Given the description of an element on the screen output the (x, y) to click on. 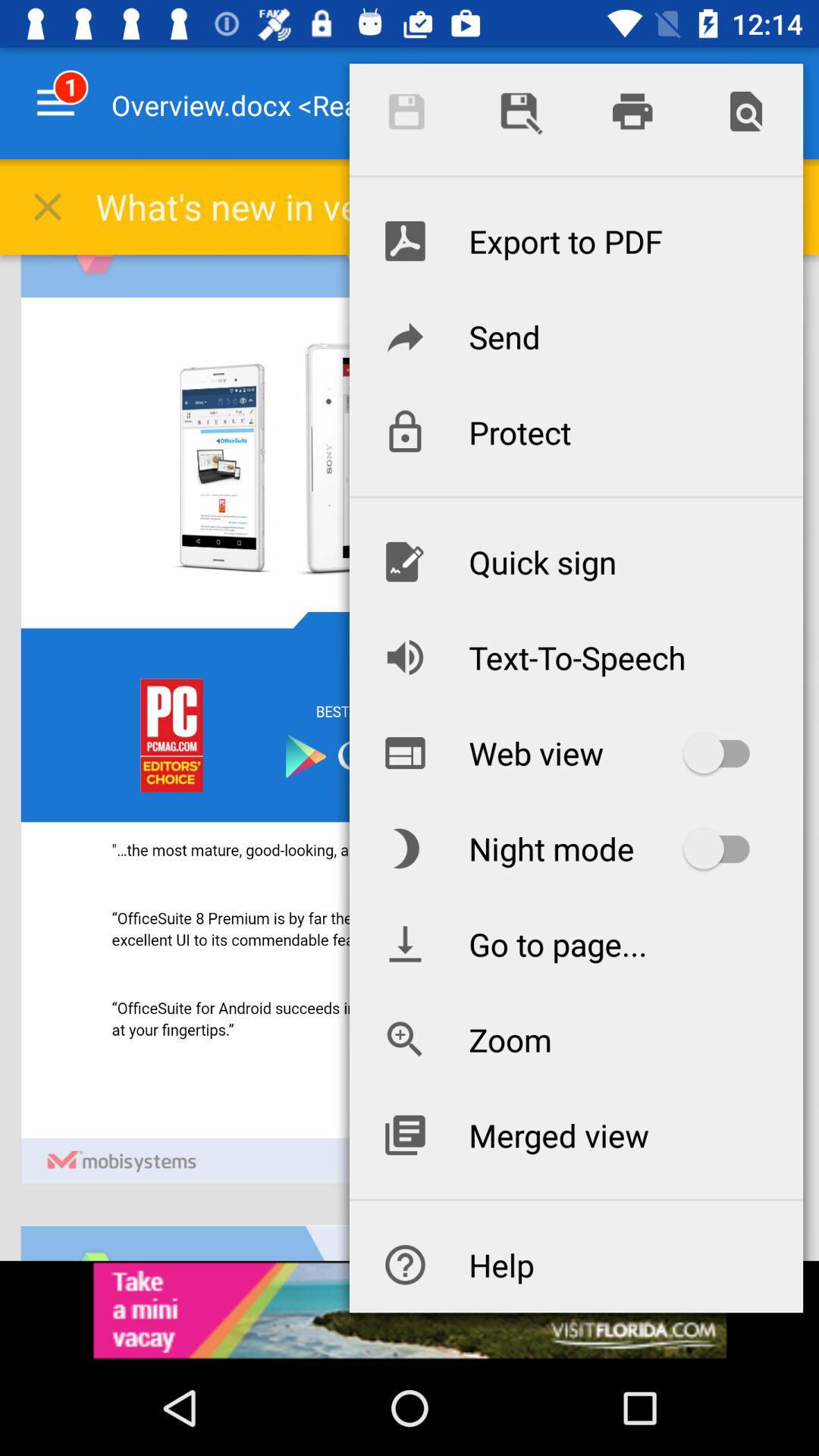
choose the item above protect icon (576, 336)
